Given the description of an element on the screen output the (x, y) to click on. 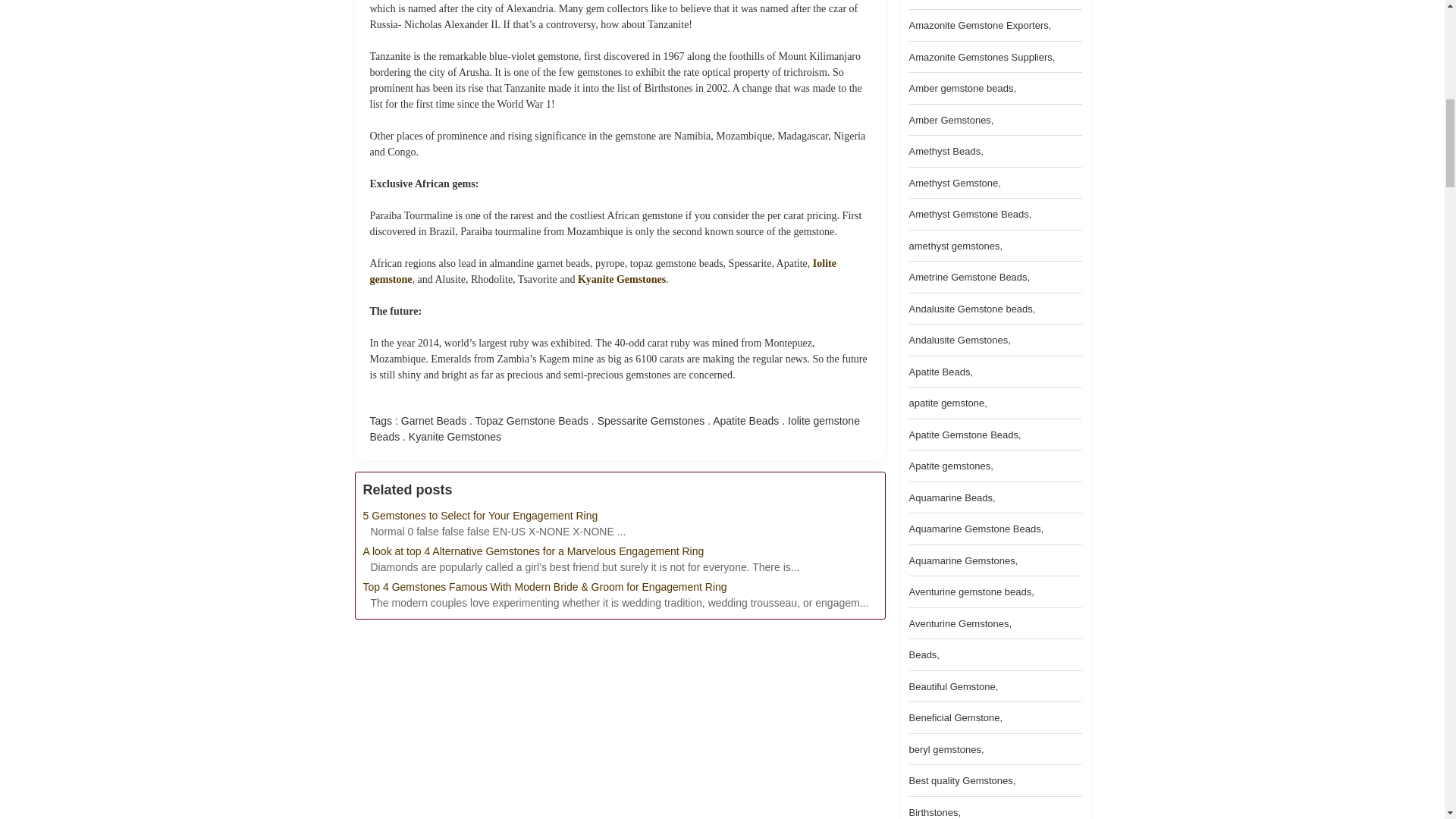
Iolite gemstone (602, 271)
Kyanite Gemstones (621, 278)
5 Gemstones to Select for Your Engagement Ring (619, 515)
